Given the description of an element on the screen output the (x, y) to click on. 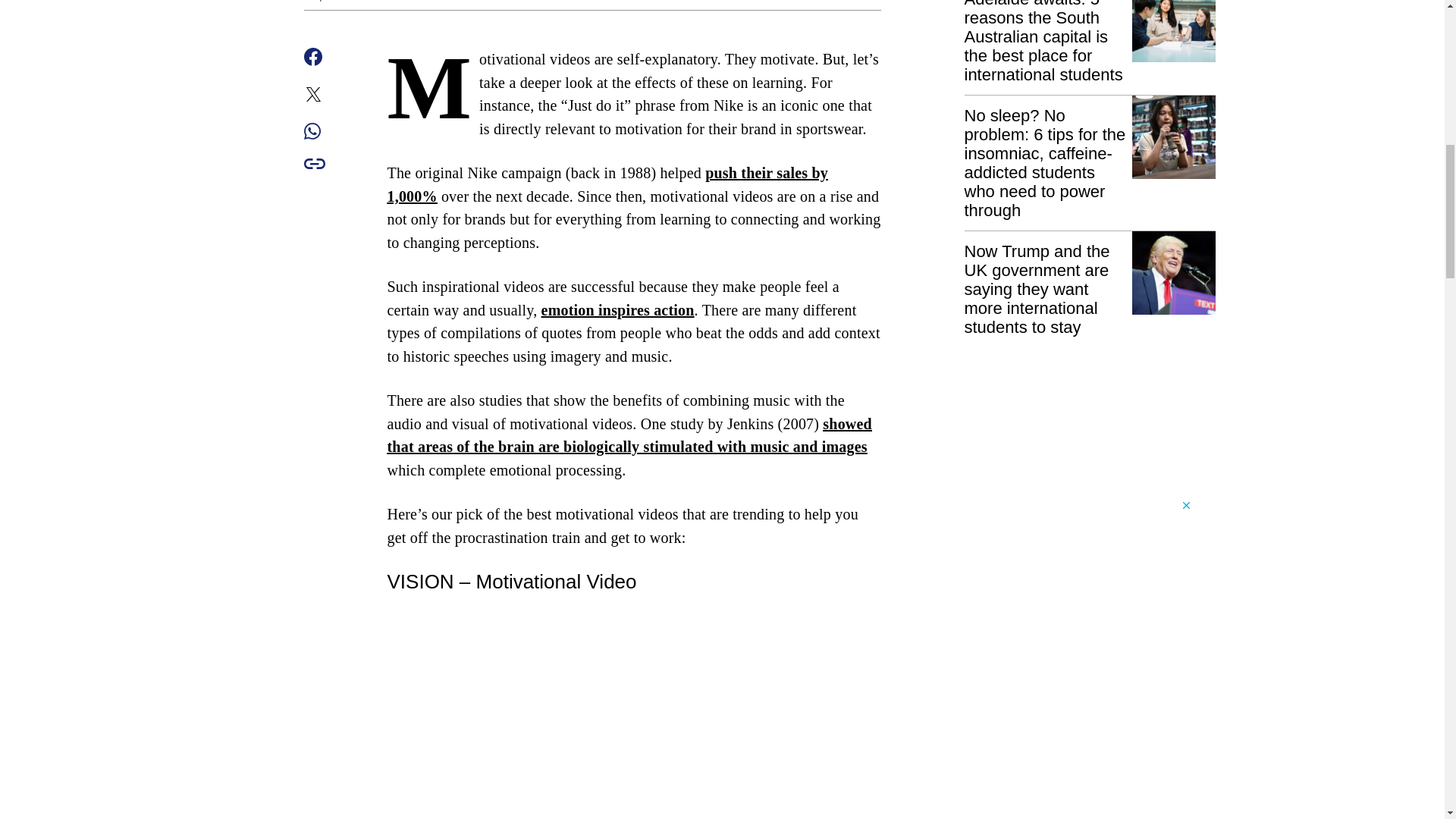
YouTube video player (633, 713)
emotion inspires action (617, 310)
3rd party ad content (1078, 658)
